Given the description of an element on the screen output the (x, y) to click on. 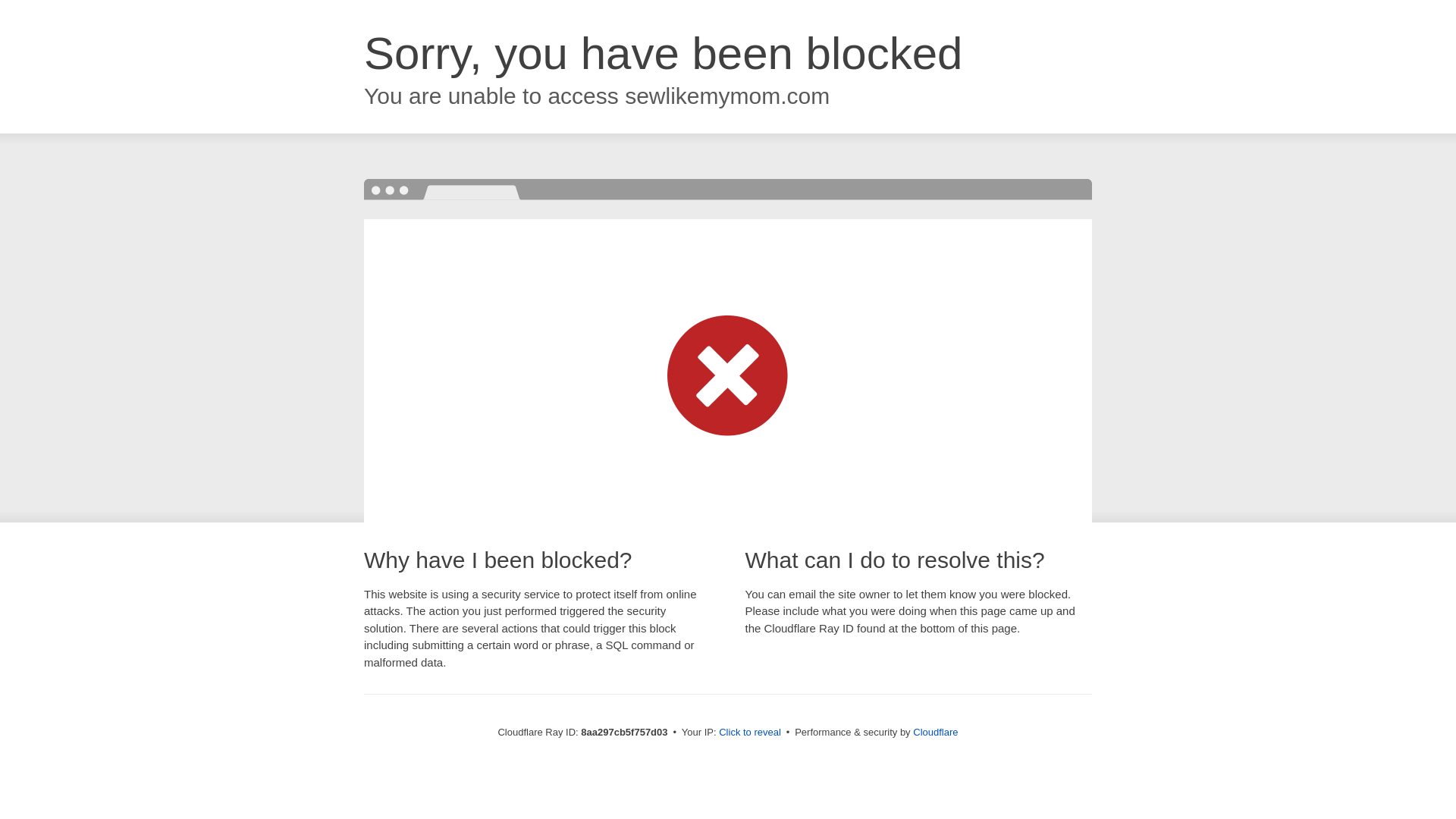
Click to reveal (749, 732)
Cloudflare (935, 731)
